Given the description of an element on the screen output the (x, y) to click on. 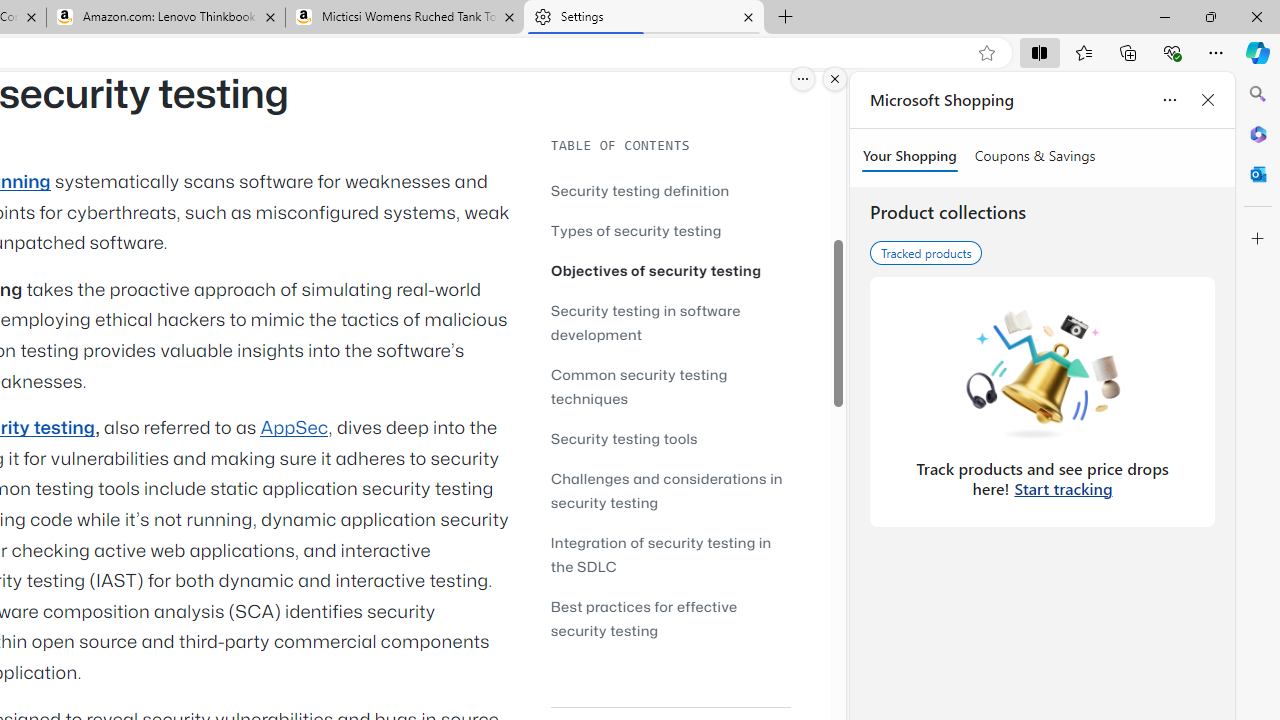
Outlook (1258, 174)
Security testing in software development (645, 321)
Best practices for effective security testing (670, 618)
Security testing tools (670, 438)
AppSec (293, 428)
Security testing in software development (670, 322)
Security testing definition (670, 190)
Objectives of security testing (670, 269)
Common security testing techniques (670, 386)
Security testing definition (639, 190)
